Given the description of an element on the screen output the (x, y) to click on. 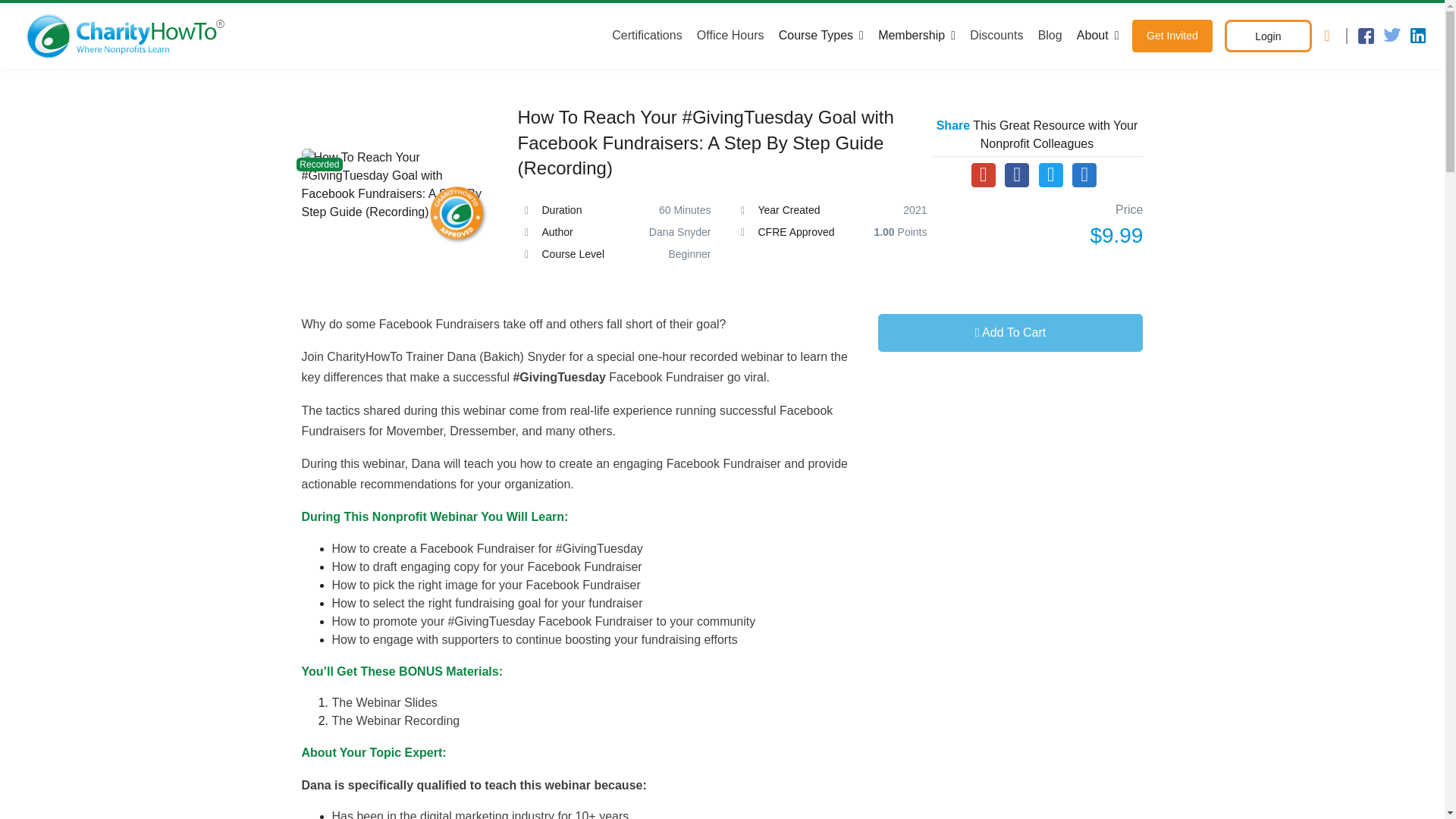
Membership (916, 35)
Office Hours (729, 35)
About (1096, 35)
Login (1267, 35)
Certifications (649, 35)
Course Types (820, 35)
Discounts (996, 35)
Get Invited (1172, 35)
